Given the description of an element on the screen output the (x, y) to click on. 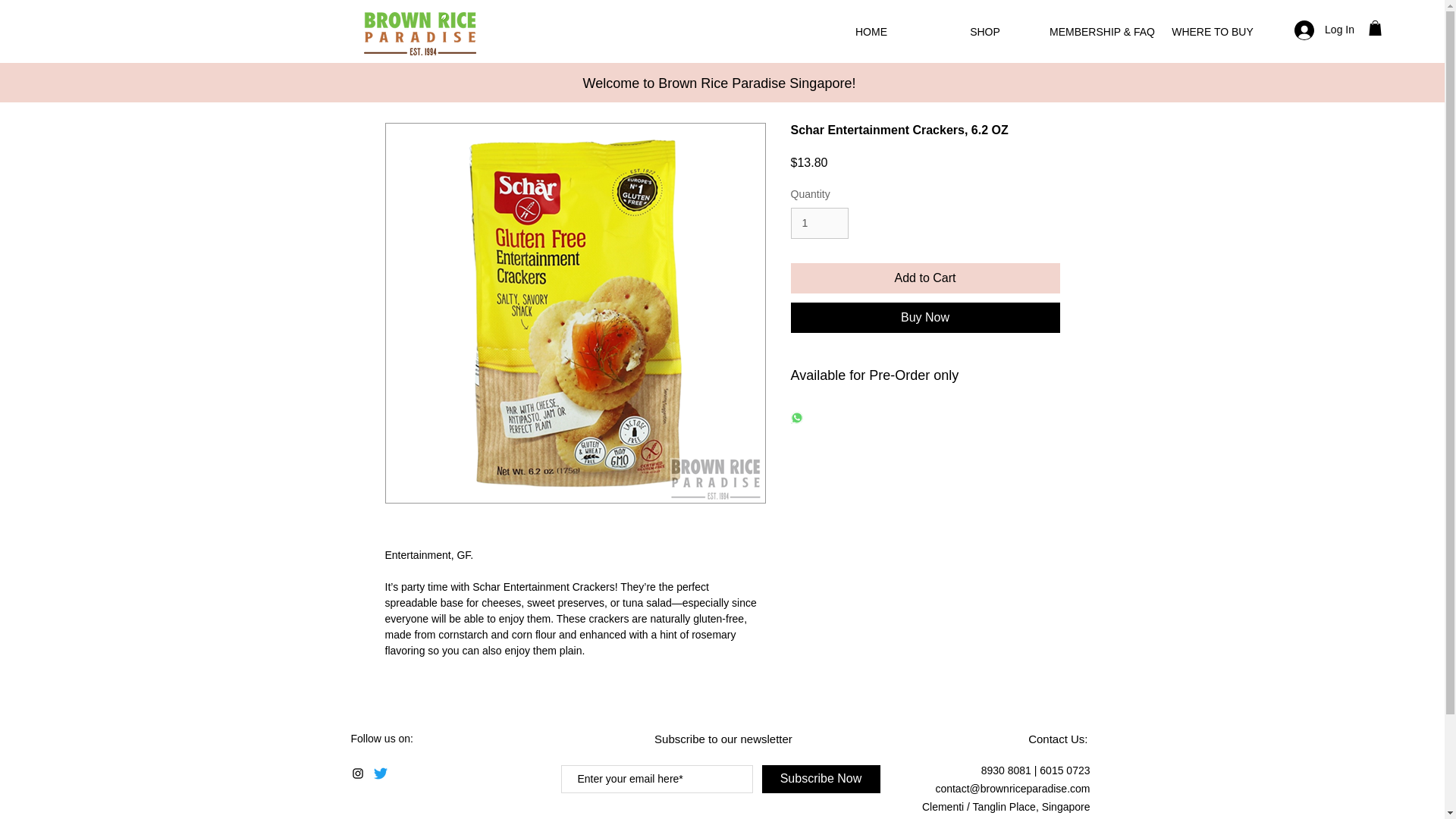
1 (818, 223)
HOME (870, 31)
WHERE TO BUY (1212, 31)
Log In (1324, 30)
SHOP (985, 31)
Buy Now (924, 317)
Subscribe Now (820, 778)
Add to Cart (924, 277)
